Given the description of an element on the screen output the (x, y) to click on. 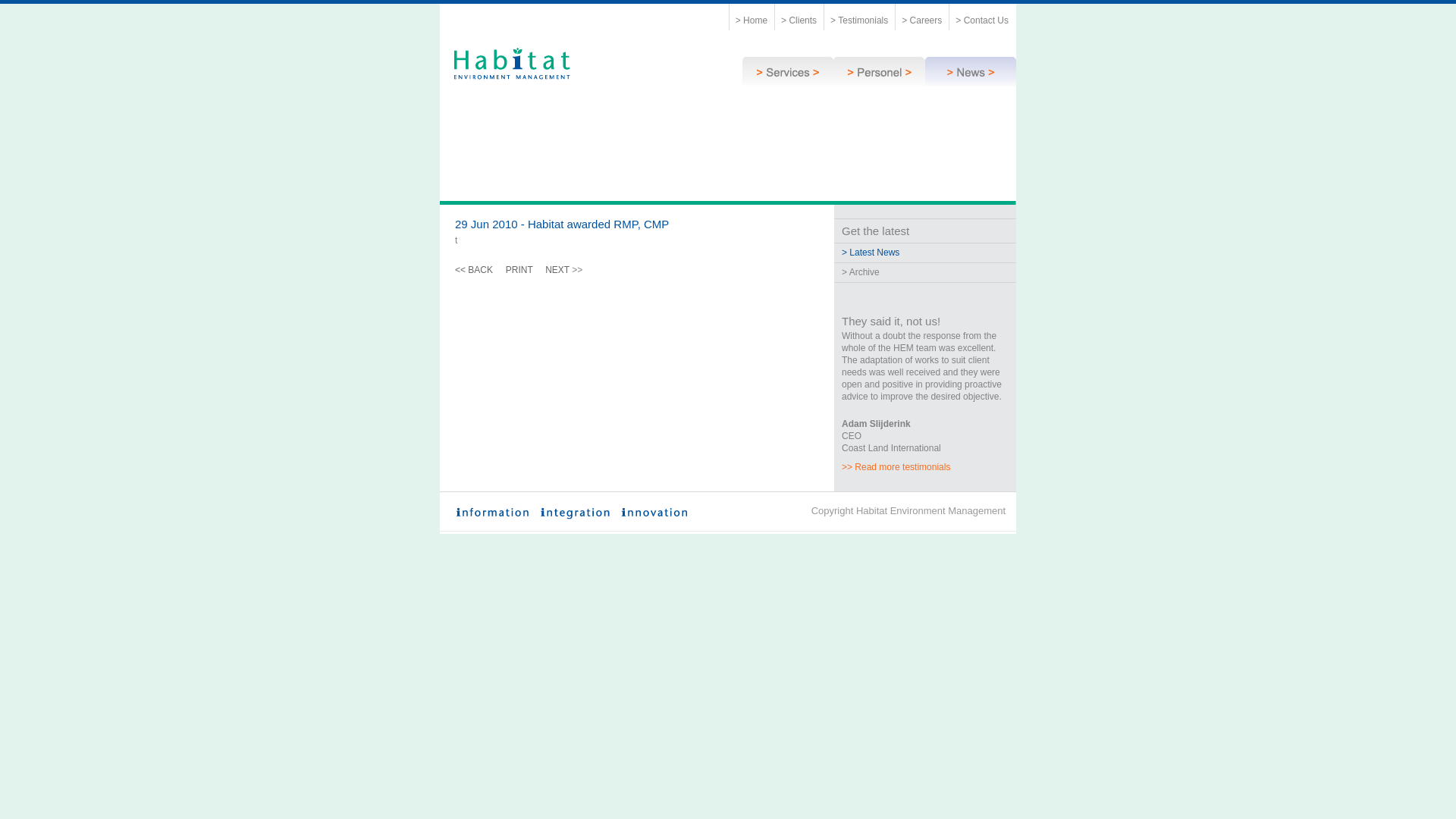
> Latest News Element type: text (870, 252)
> Testimonials Element type: text (859, 20)
> Careers Element type: text (921, 20)
<< BACK Element type: text (475, 269)
>> Read more testimonials Element type: text (895, 466)
> Home Element type: text (751, 20)
> Clients Element type: text (798, 20)
NEXT Element type: text (558, 269)
> Contact Us Element type: text (981, 20)
> Archive Element type: text (860, 271)
PRINT Element type: text (519, 269)
